Given the description of an element on the screen output the (x, y) to click on. 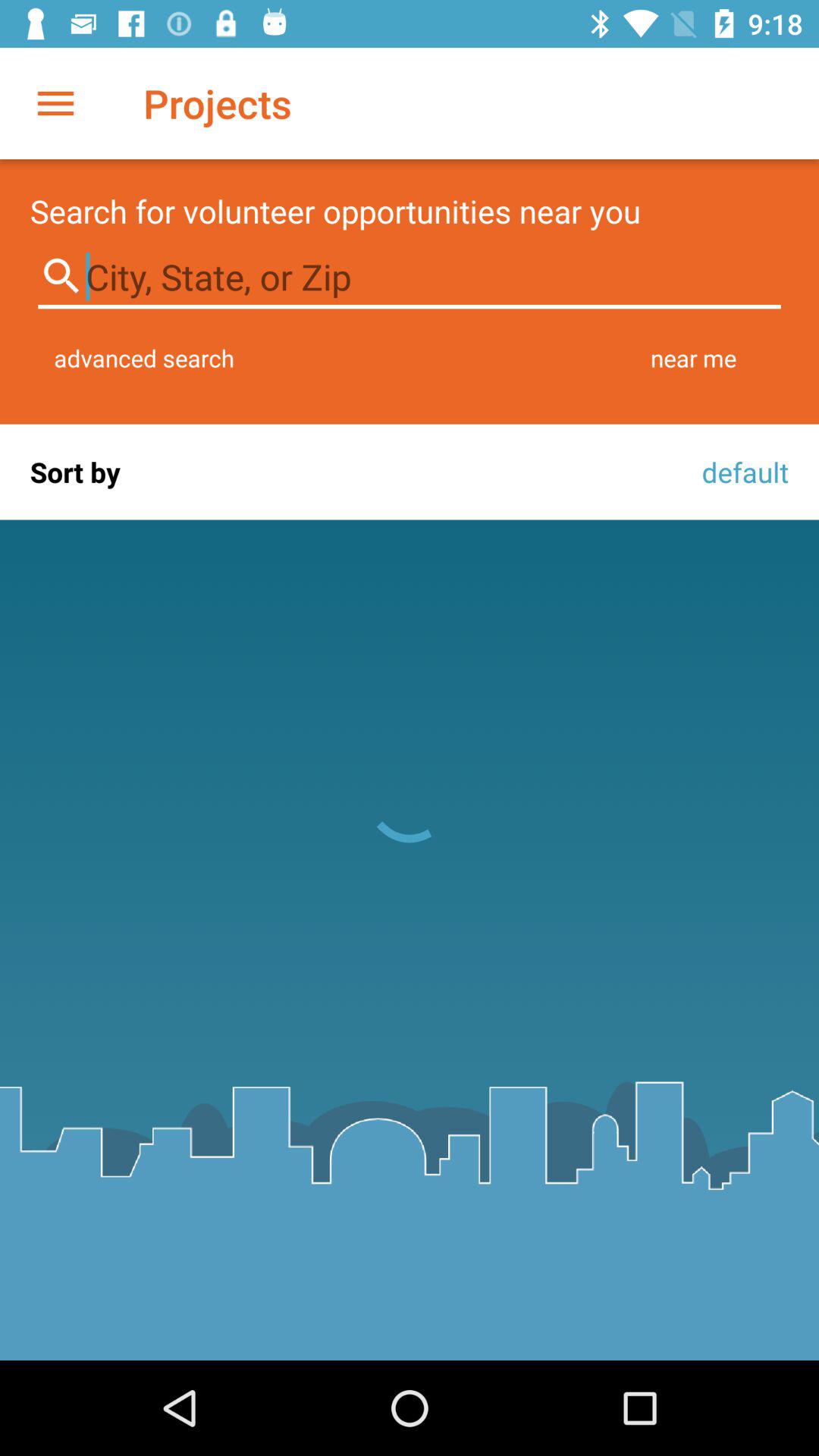
swipe until advanced search item (144, 358)
